Given the description of an element on the screen output the (x, y) to click on. 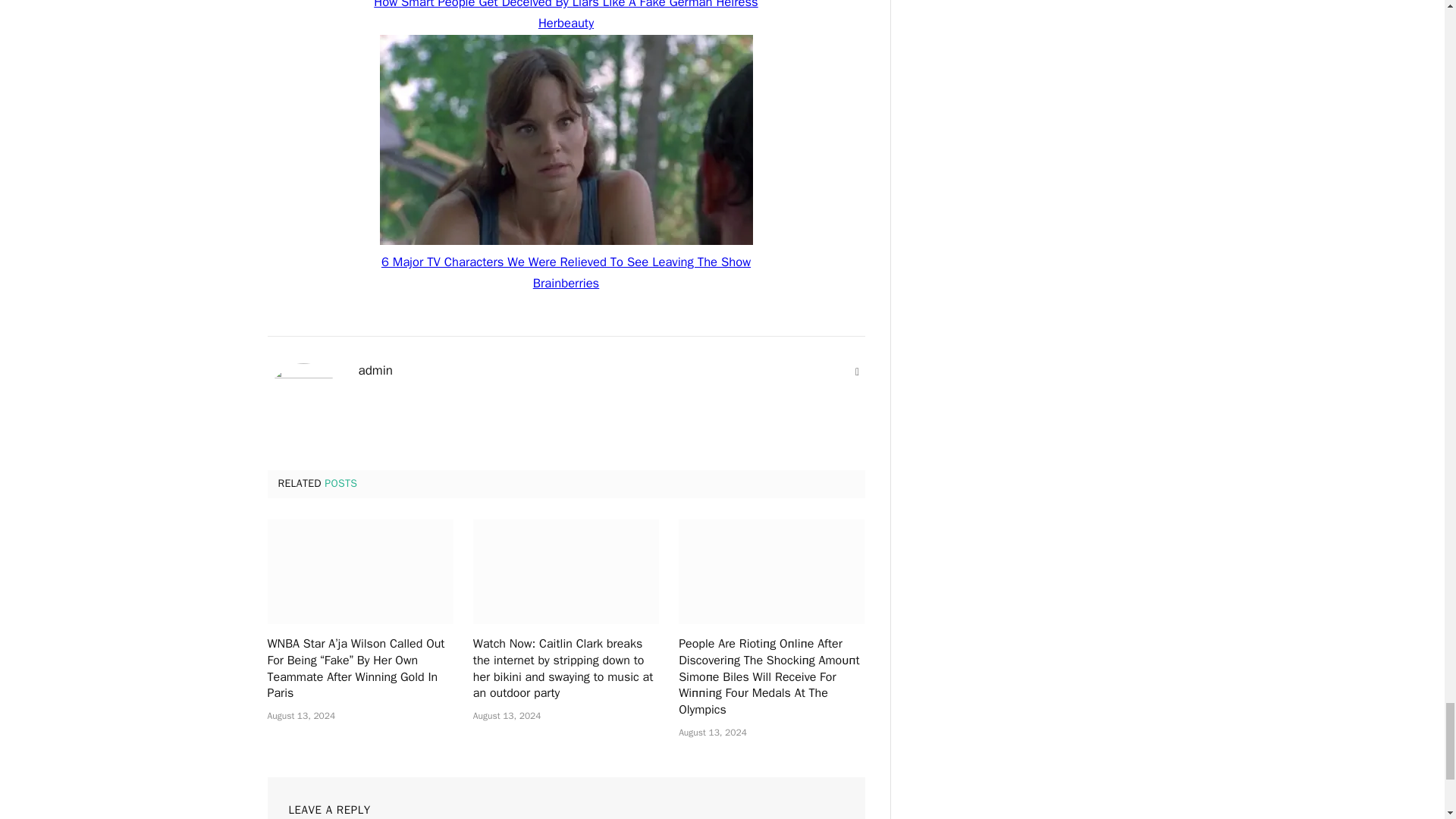
Posts by admin (375, 370)
admin (375, 370)
Website (856, 372)
Website (856, 372)
